Given the description of an element on the screen output the (x, y) to click on. 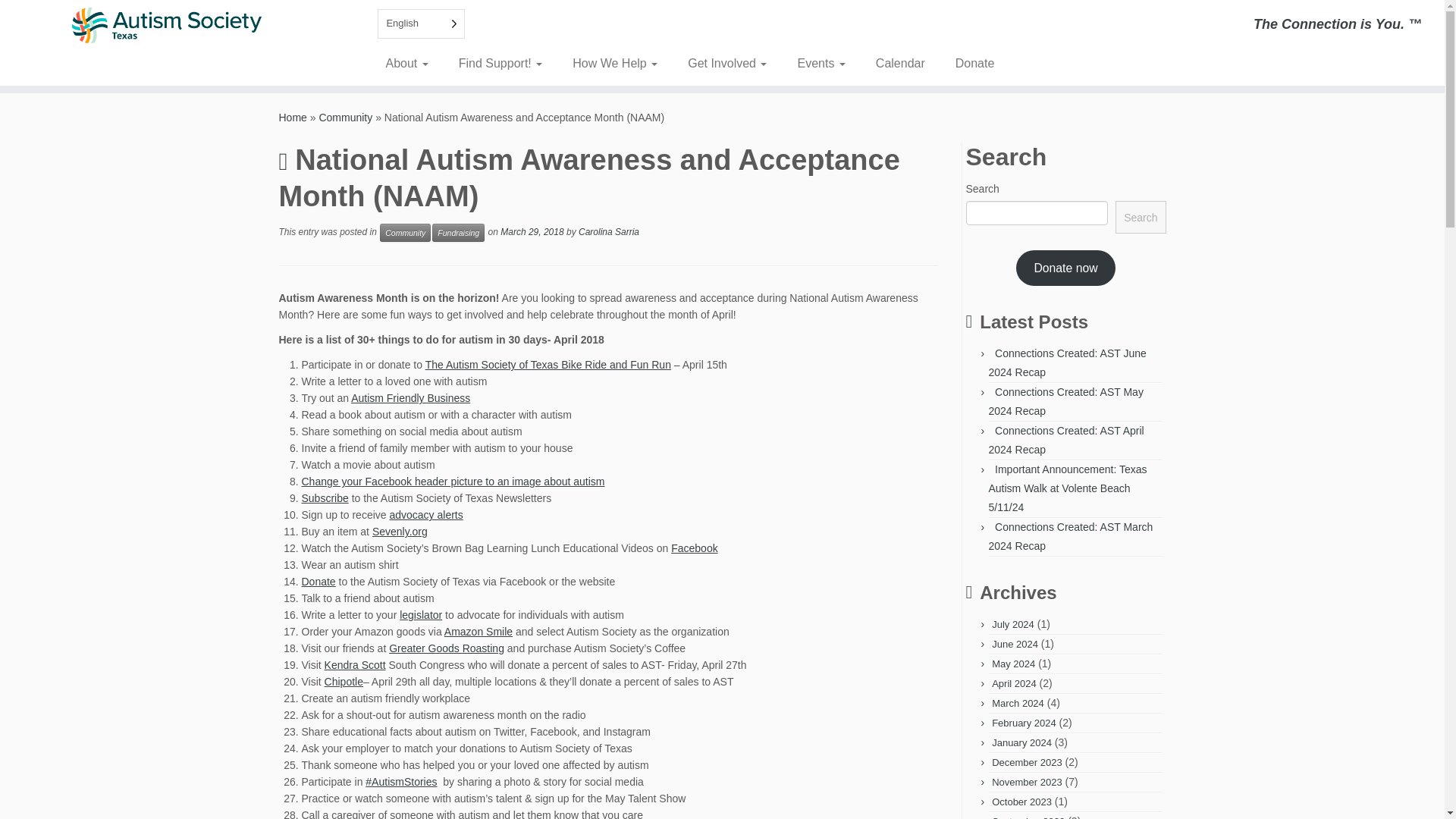
Autism Society of Texas (293, 117)
Find Support! (500, 62)
View all posts in Fundraising (458, 232)
View all posts in Community (405, 232)
Community (345, 117)
View all posts by Carolina Sarria (608, 232)
How We Help (614, 62)
About (411, 62)
Get Involved (726, 62)
10:45 am (531, 232)
